Given the description of an element on the screen output the (x, y) to click on. 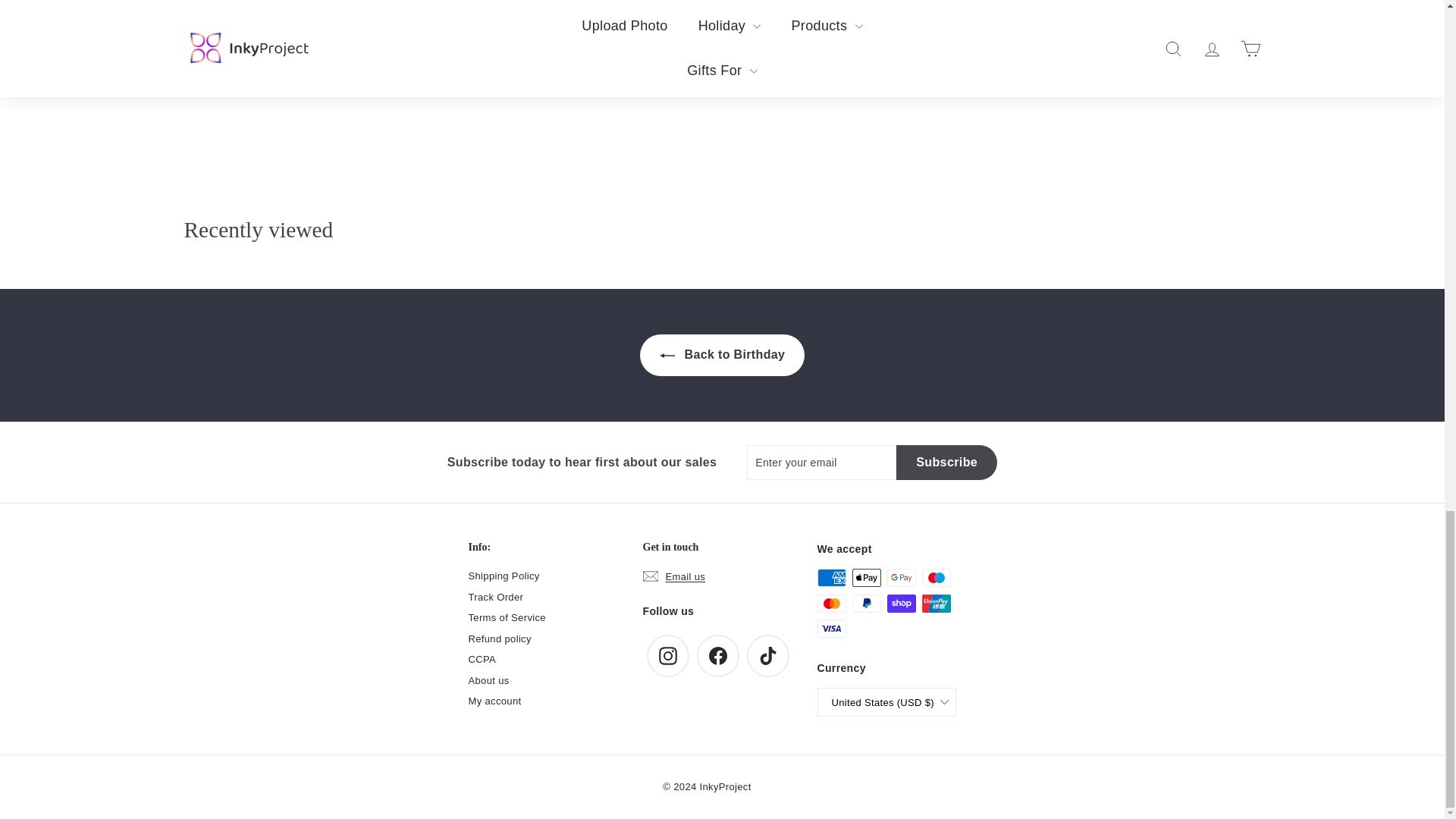
Google Pay (900, 577)
American Express (830, 577)
instagram (667, 656)
InkyProject on TikTok (767, 655)
Apple Pay (865, 577)
Union Pay (935, 603)
PayPal (865, 603)
icon-left-arrow (667, 355)
InkyProject on Facebook (716, 655)
Shop Pay (900, 603)
